Given the description of an element on the screen output the (x, y) to click on. 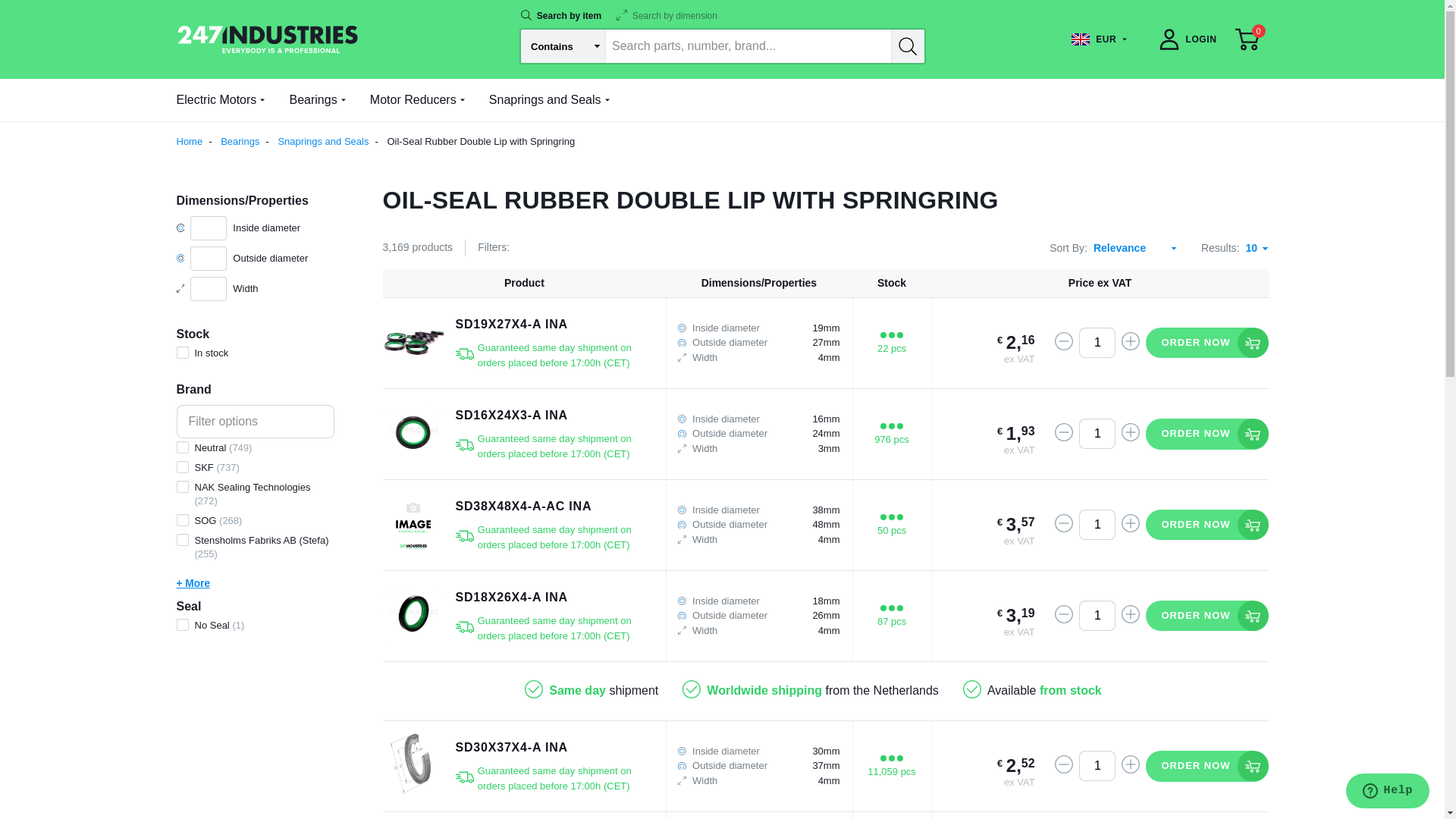
Snaprings and Seals Element type: text (330, 141)
Dimensions/Properties Element type: text (758, 282)
SD38X48X4-A-AC INA Element type: text (523, 505)
ORDER NOW Element type: text (1206, 433)
ORDER NOW Element type: text (1206, 524)
ORDER NOW Element type: text (1206, 615)
Product Element type: text (523, 282)
SD16X24X3-A INA Element type: text (511, 414)
Price ex VAT Element type: text (1099, 282)
Home Element type: text (196, 141)
LOGIN Element type: text (1186, 39)
ORDER NOW Element type: text (1206, 342)
SD18X26X4-A INA Element type: text (511, 596)
Electric Motors Element type: text (219, 99)
Motor Reducers Element type: text (416, 99)
SD30X37X4-A INA Element type: text (511, 746)
Snaprings and Seals Element type: text (548, 99)
ORDER NOW Element type: text (1206, 765)
Bearings Element type: text (316, 99)
Stock Element type: text (891, 282)
0 Element type: text (1246, 39)
SD19X27X4-A INA Element type: text (511, 323)
EUR Element type: text (1098, 39)
Bearings Element type: text (247, 141)
+ More Element type: text (254, 584)
Opens a widget where you can chat to one of our agents Element type: hover (1387, 792)
